Given the description of an element on the screen output the (x, y) to click on. 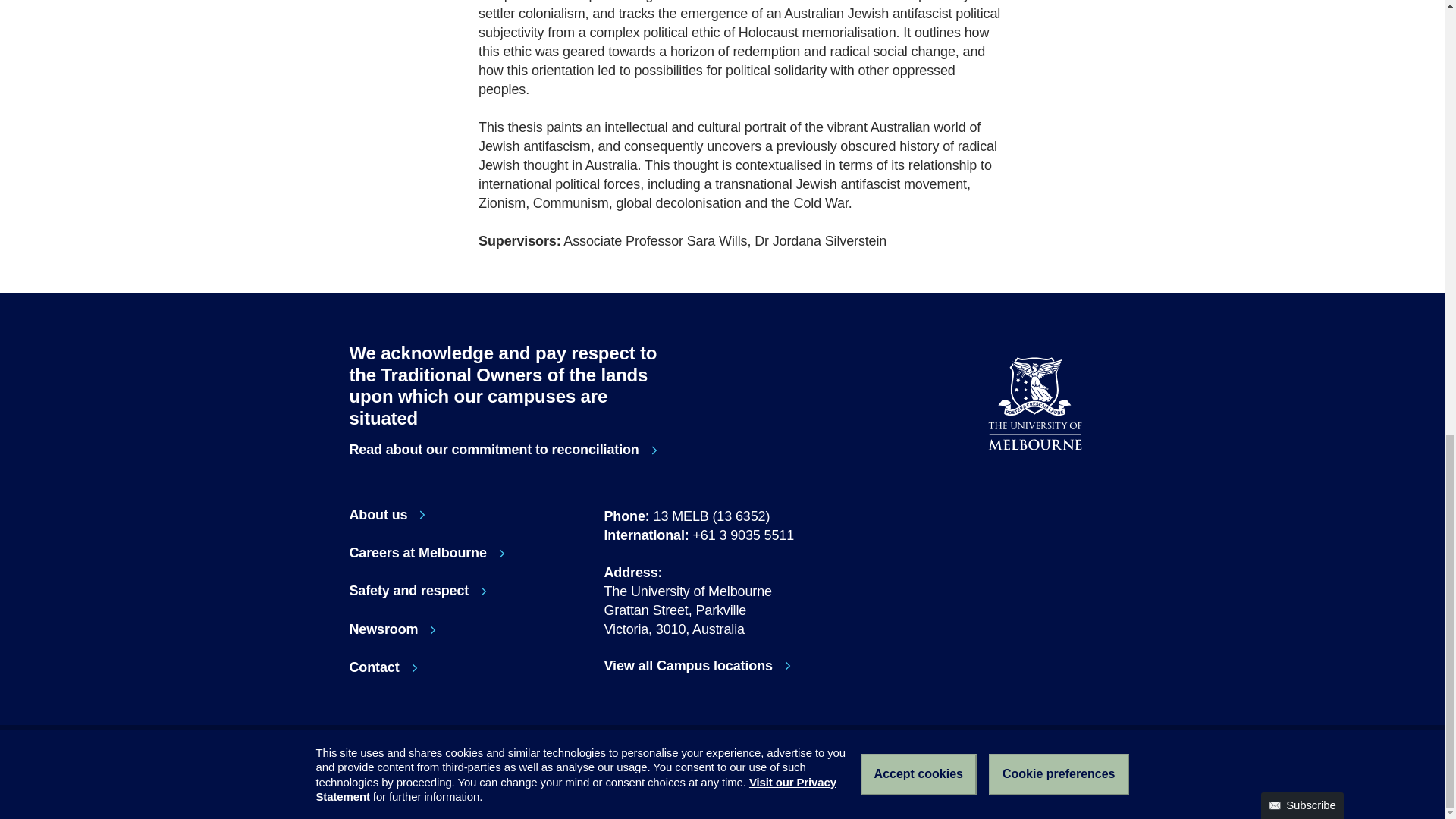
Subscribe me! (1049, 136)
